Given the description of an element on the screen output the (x, y) to click on. 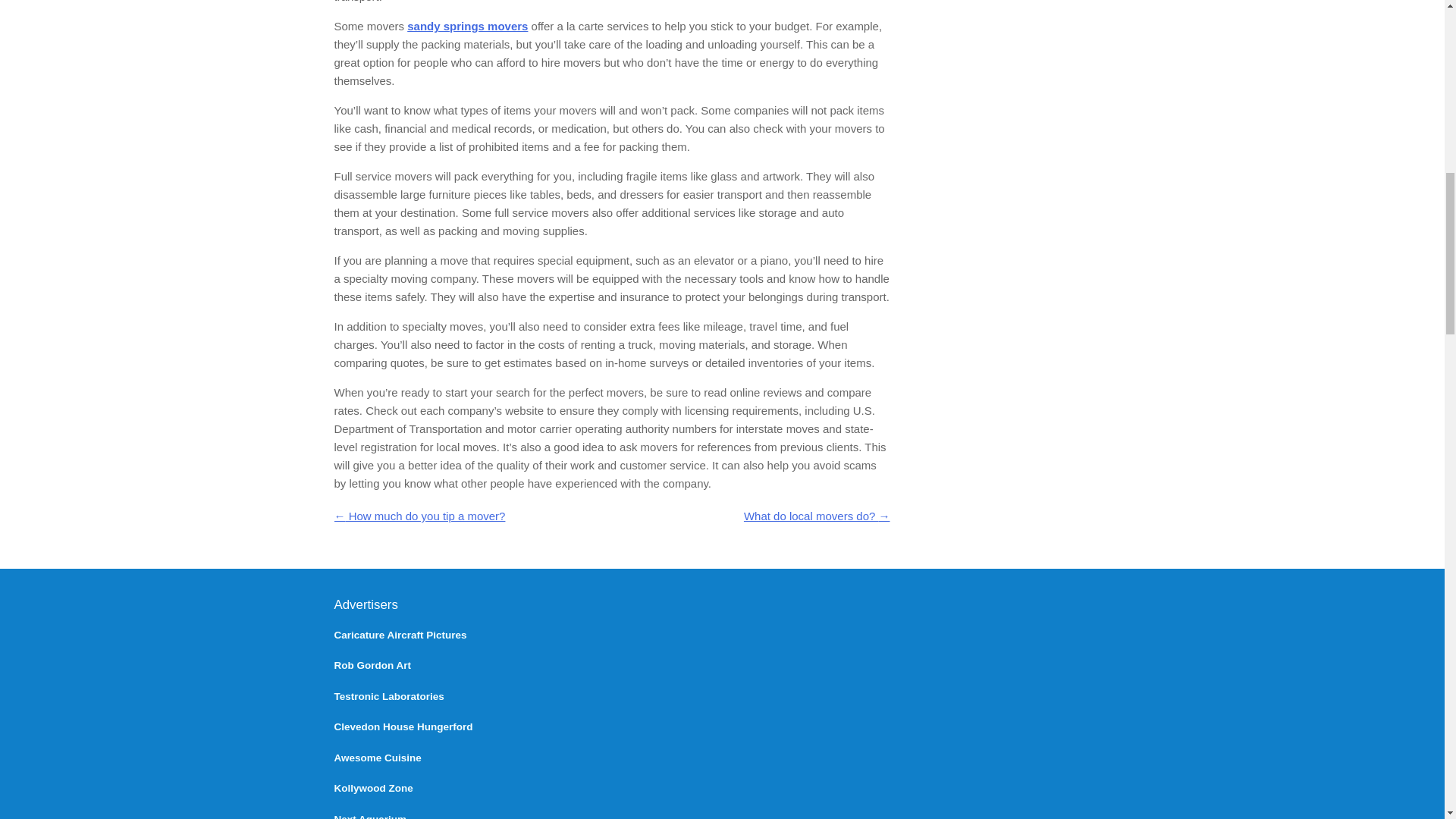
Clevedon House Hungerford (402, 726)
sandy springs movers (467, 25)
Kollywood Zone (372, 787)
Next Aquarium (369, 816)
Caricature Aircraft Pictures (399, 634)
Testronic Laboratories (388, 696)
Rob Gordon Art (371, 665)
Awesome Cuisine (376, 757)
